Given the description of an element on the screen output the (x, y) to click on. 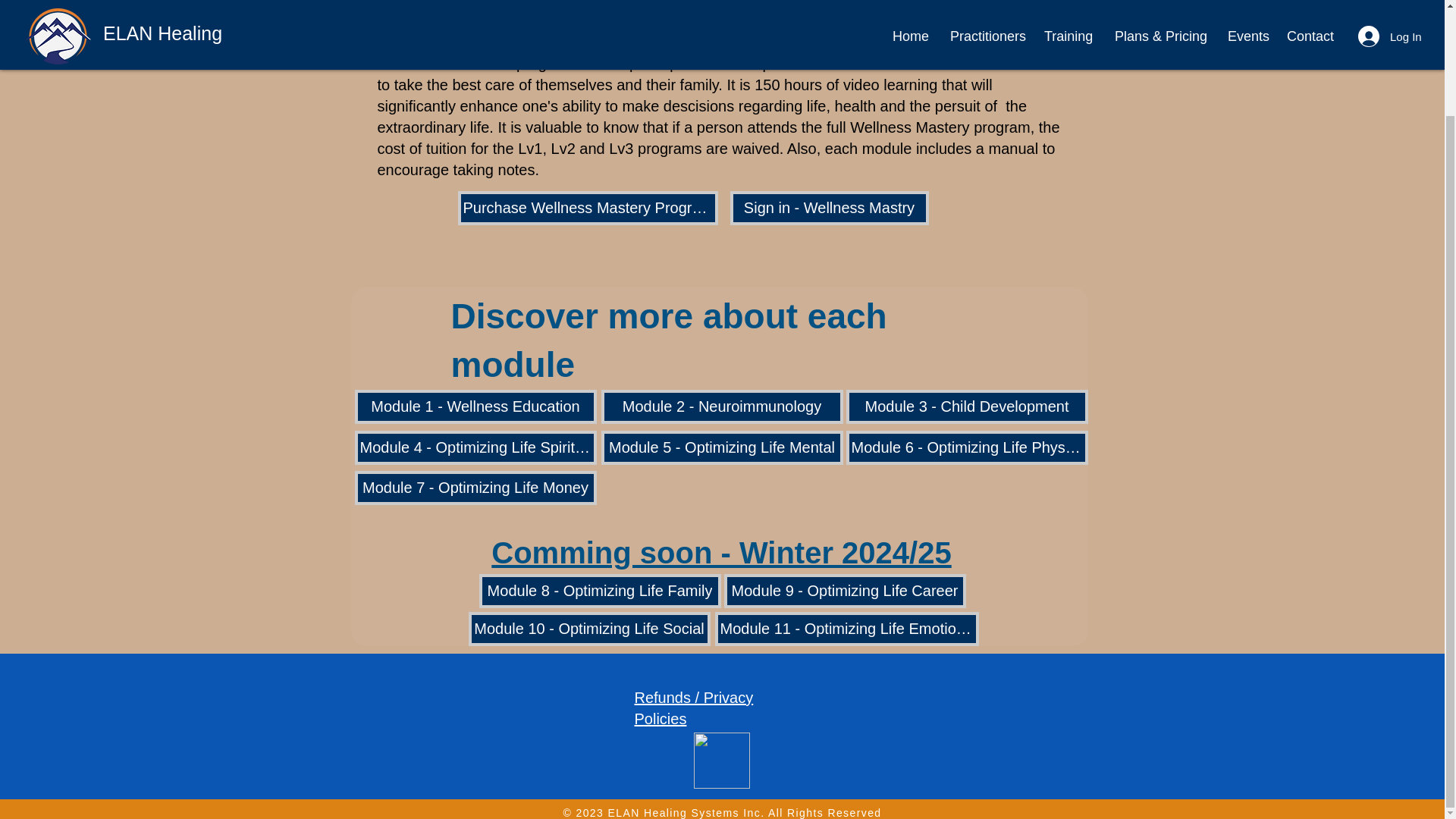
Sign in - Wellness Mastry (828, 207)
Module 11 - Optimizing Life Emotional (846, 628)
Module 3 - Child Development (966, 406)
Module 4 - Optimizing Life Spiritual (475, 447)
Module 7 - Optimizing Life Money (475, 487)
Module 10 - Optimizing Life Social (589, 628)
Module 1 - Wellness Education (475, 406)
Module 2 - Neuroimmunology (721, 406)
Purchase Wellness Mastery Program (587, 207)
Module 9 - Optimizing Life Career (844, 591)
